Given the description of an element on the screen output the (x, y) to click on. 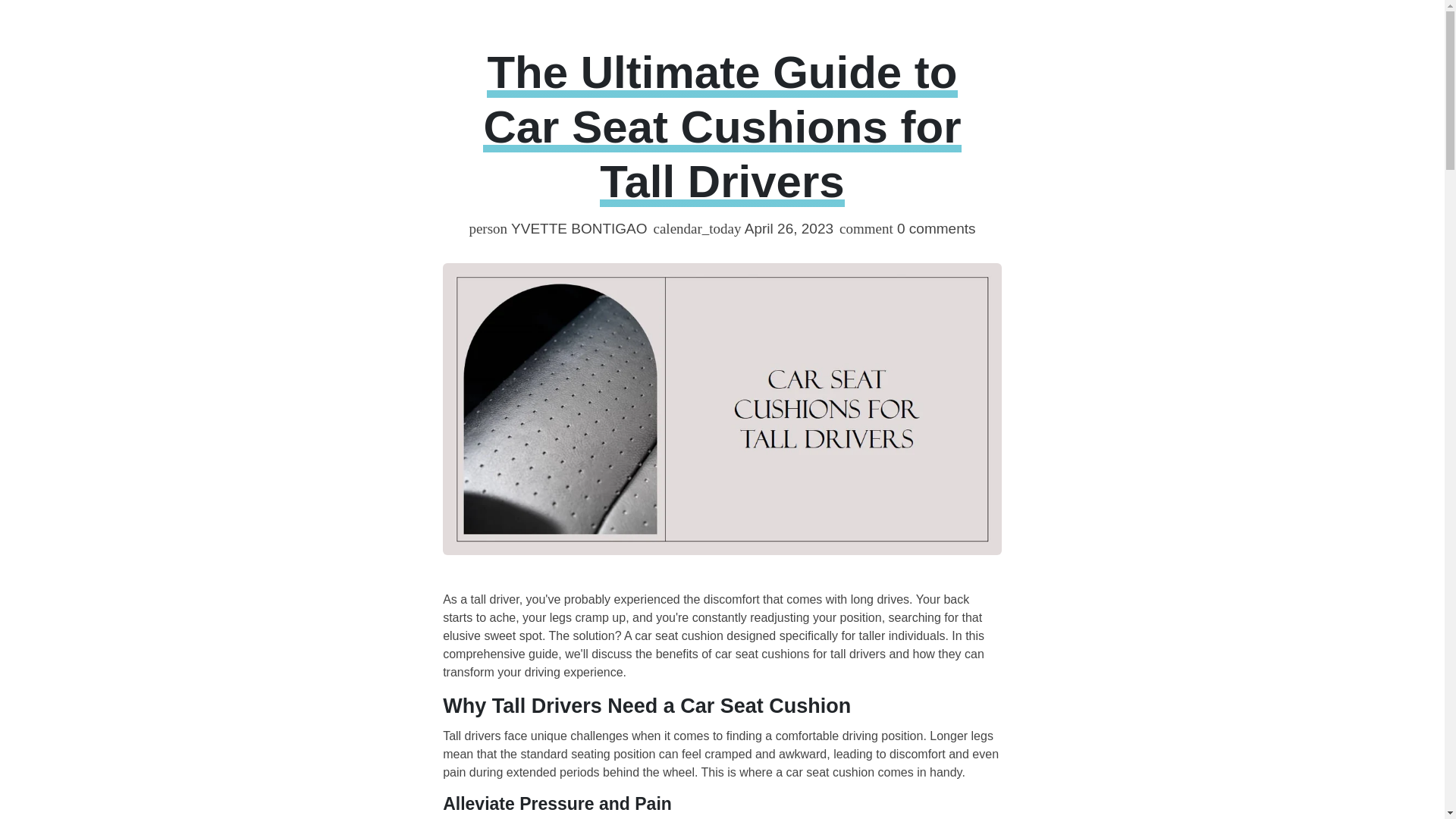
About (558, 16)
Cart (1089, 30)
Search (1001, 30)
